Given the description of an element on the screen output the (x, y) to click on. 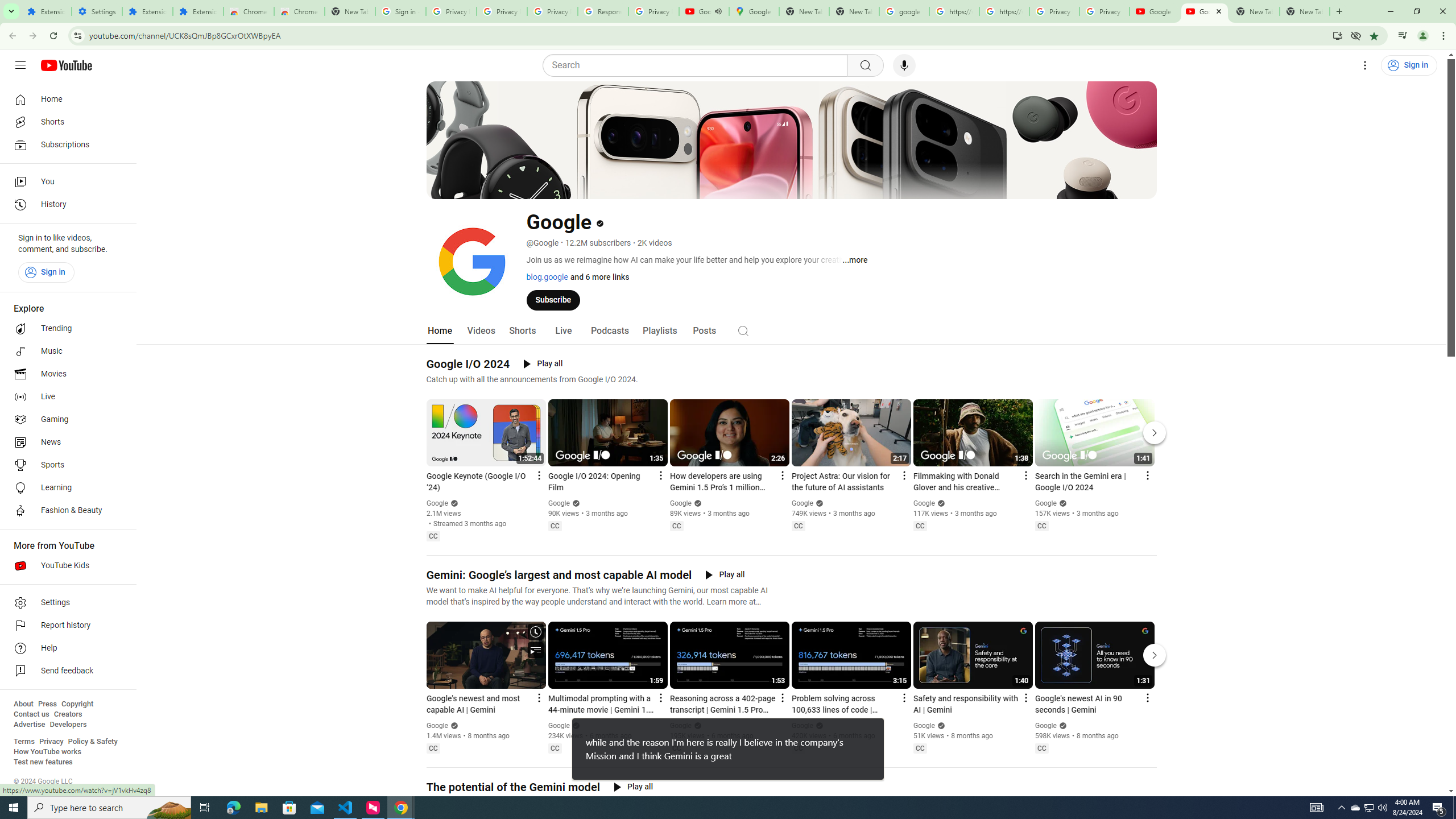
Developers (68, 724)
Trending (64, 328)
Closed captions (1041, 748)
Subscribe (552, 299)
Report history (64, 625)
YouTube Home (66, 65)
Gaming (64, 419)
